Given the description of an element on the screen output the (x, y) to click on. 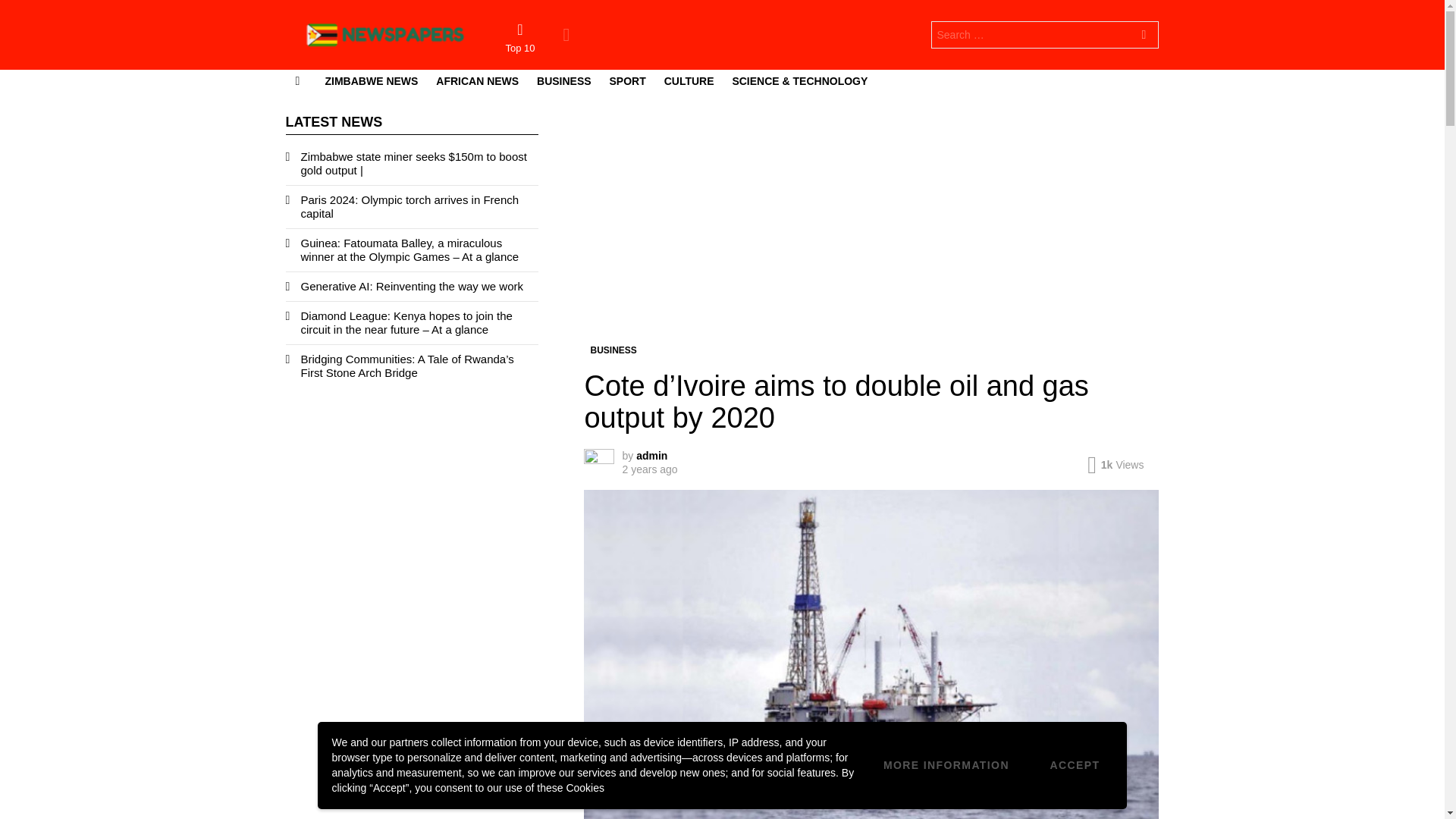
Posts by admin (651, 455)
Top 10 (519, 37)
BUSINESS (563, 80)
SEARCH (1143, 36)
CULTURE (689, 80)
AFRICAN NEWS (476, 80)
MORE INFORMATION (946, 765)
ACCEPT (1074, 765)
Search for: (1044, 34)
SPORT (627, 80)
August 9, 2022, 10:03 pm (649, 468)
Advertisement (870, 228)
BUSINESS (612, 350)
ZIMBABWE NEWS (371, 80)
admin (651, 455)
